Given the description of an element on the screen output the (x, y) to click on. 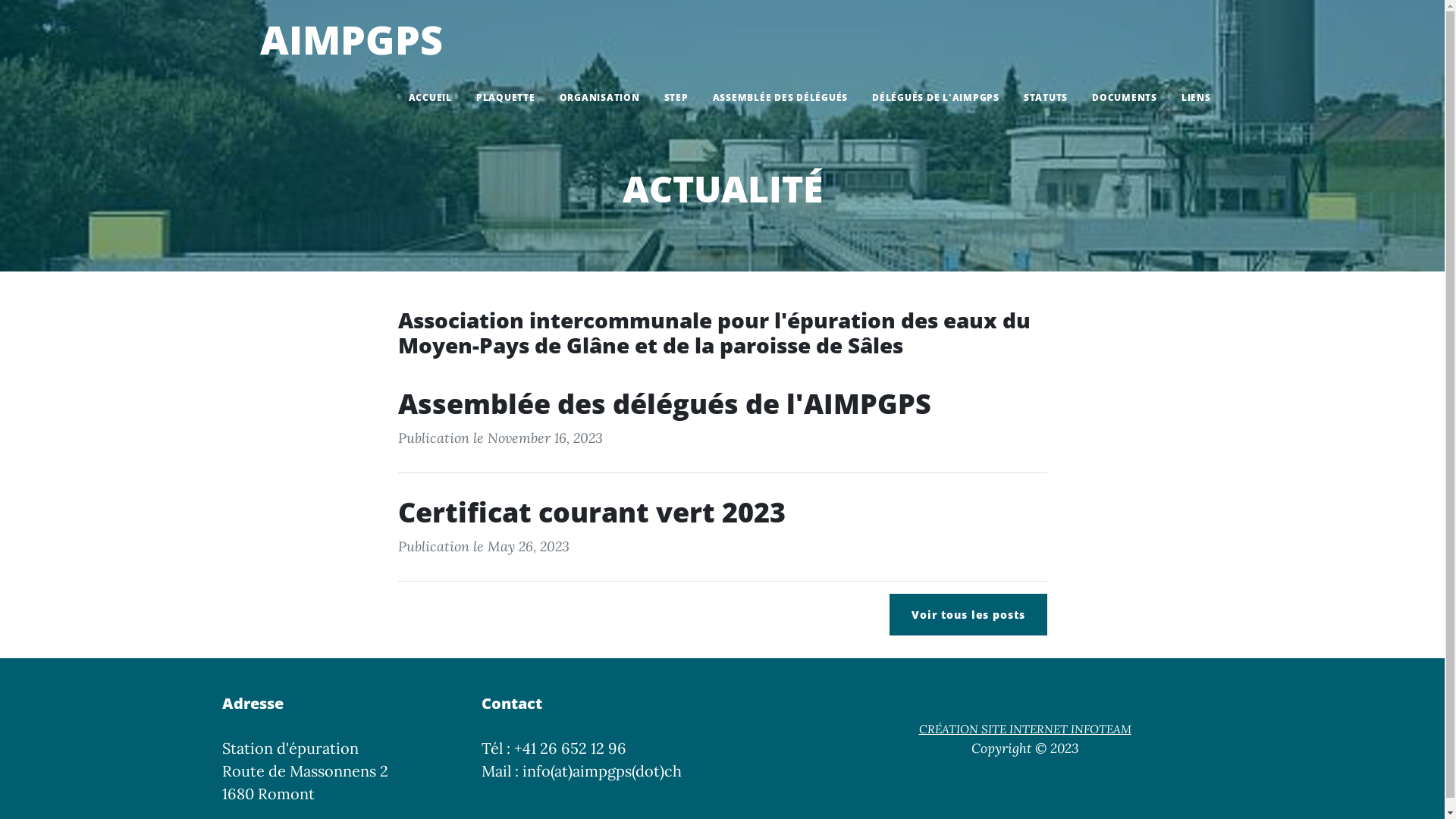
LIENS Element type: text (1196, 97)
Voir tous les posts Element type: text (968, 614)
STATUTS Element type: text (1045, 97)
DOCUMENTS Element type: text (1124, 97)
ACCUEIL Element type: text (429, 97)
AIMPGPS Element type: text (331, 39)
ORGANISATION Element type: text (599, 97)
STEP Element type: text (676, 97)
Certificat courant vert 2023 Element type: text (721, 511)
PLAQUETTE Element type: text (505, 97)
